Given the description of an element on the screen output the (x, y) to click on. 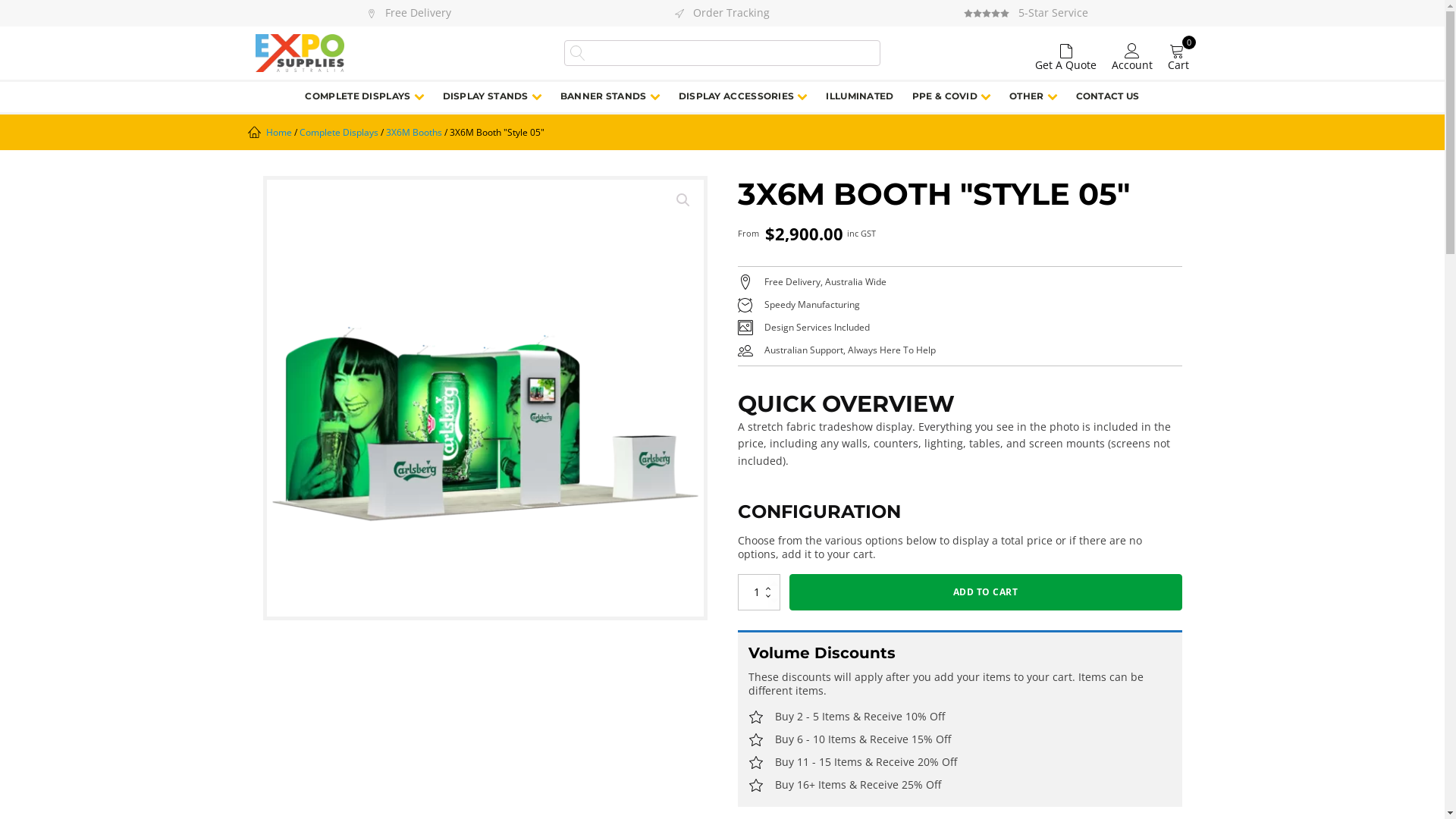
0
Cart Element type: text (1178, 57)
BANNER STANDS Element type: text (610, 96)
Search Element type: text (37, 12)
Account Element type: text (1131, 53)
Home Element type: text (278, 131)
Qty Element type: hover (758, 592)
PPE & COVID Element type: text (951, 96)
COMPLETE DISPLAYS Element type: text (364, 96)
CONTACT US Element type: text (1107, 96)
DISPLAY STANDS Element type: text (492, 96)
3X6M Booths Element type: text (413, 131)
Get A Quote Element type: text (1065, 53)
DISPLAY ACCESSORIES Element type: text (743, 96)
ILLUMINATED Element type: text (859, 96)
Complete Displays Element type: text (337, 131)
ADD TO CART Element type: text (984, 592)
3X6M Tradeshow Booth - Style 05 Element type: hover (484, 397)
OTHER Element type: text (1033, 96)
